Given the description of an element on the screen output the (x, y) to click on. 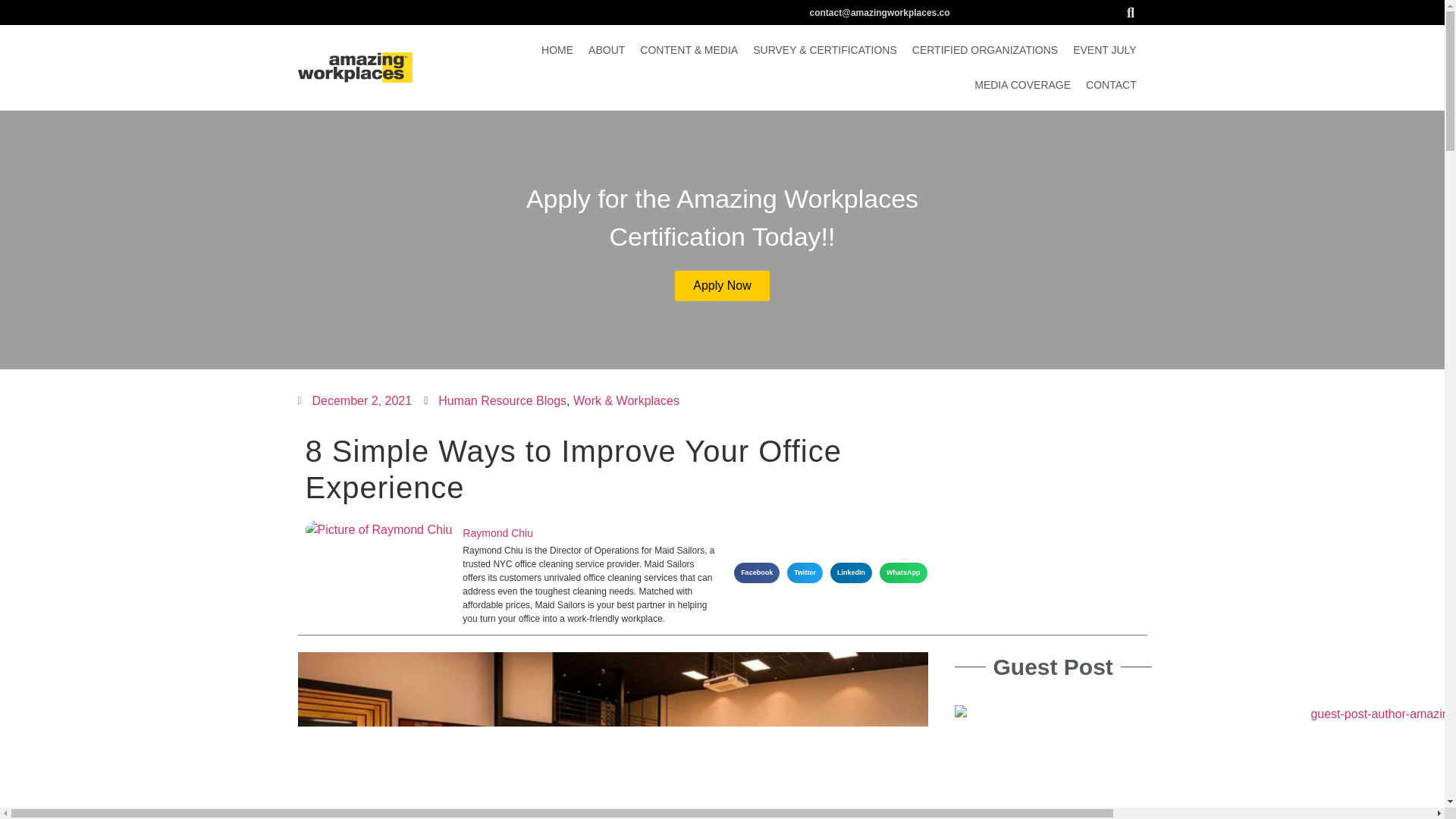
CERTIFIED ORGANIZATIONS (984, 49)
EVENT JULY (1104, 49)
HOME (557, 49)
Human Resource Blogs (502, 400)
December 2, 2021 (354, 401)
Apply Now (721, 285)
ABOUT (605, 49)
Raymond Chiu (588, 533)
MEDIA COVERAGE (1022, 84)
CONTACT (1111, 84)
